Given the description of an element on the screen output the (x, y) to click on. 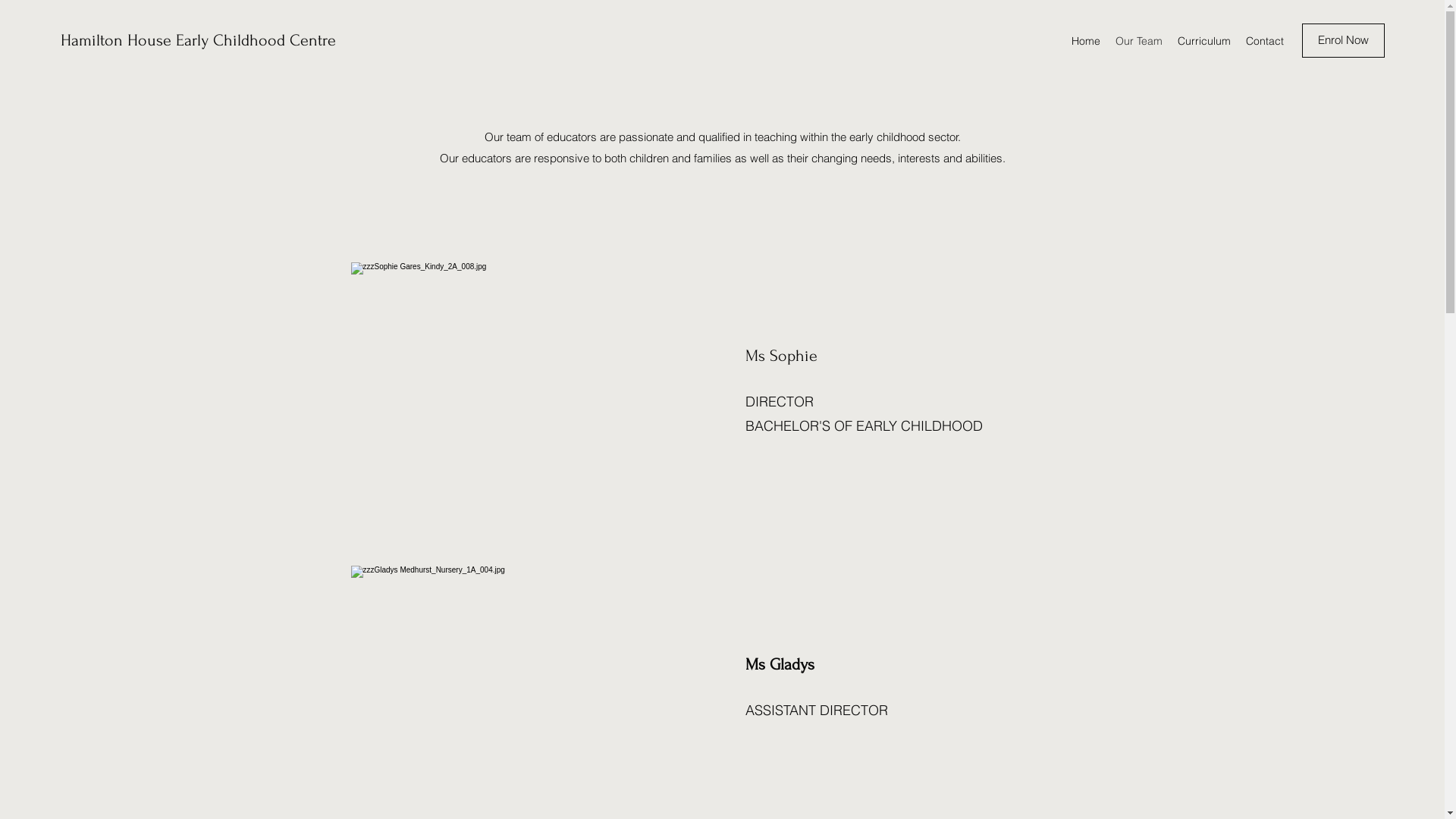
Curriculum Element type: text (1204, 40)
Our Team Element type: text (1138, 40)
Contact Element type: text (1264, 40)
Hamilton House Early Childhood Centre Element type: text (197, 40)
Home Element type: text (1085, 40)
Enrol Now Element type: text (1343, 40)
